Given the description of an element on the screen output the (x, y) to click on. 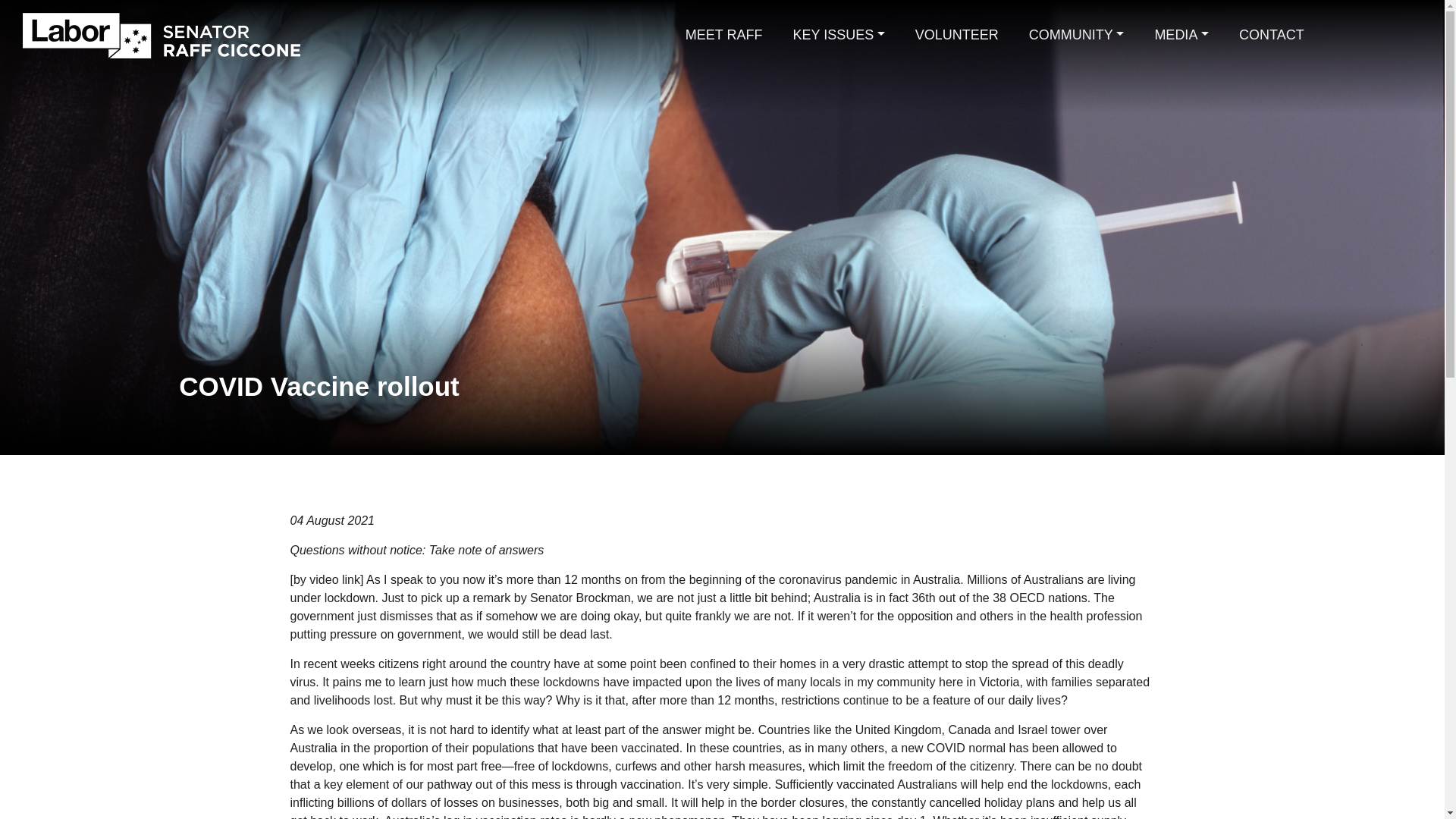
Community (1076, 34)
Media (1181, 34)
MEET RAFF (723, 34)
Meet Raff (723, 34)
Contact (1271, 34)
Key Issues (838, 34)
COMMUNITY (1076, 34)
KEY ISSUES (838, 34)
VOLUNTEER (956, 34)
Volunteer (956, 34)
